Given the description of an element on the screen output the (x, y) to click on. 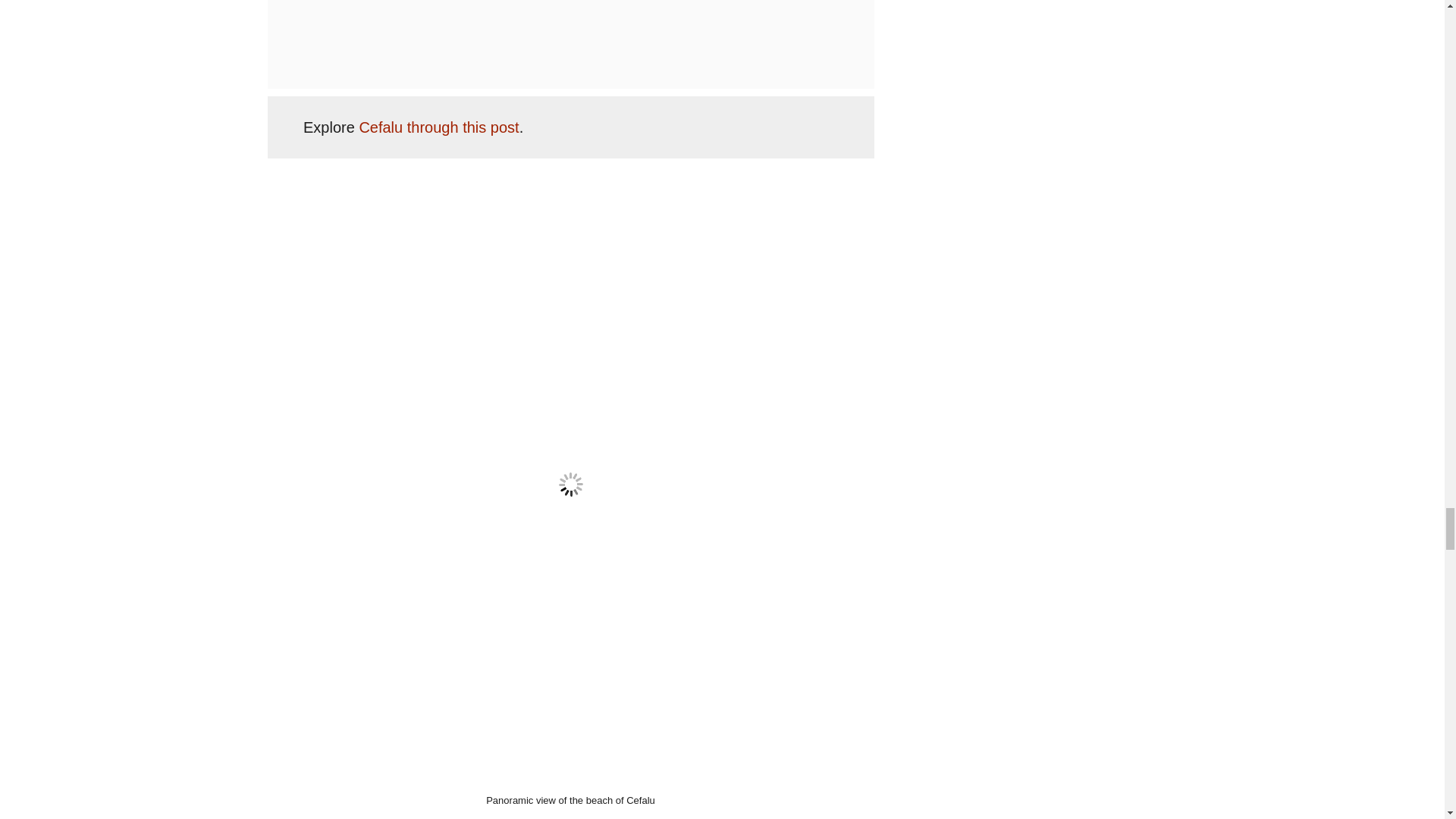
Cefalu through this post (438, 126)
